Given the description of an element on the screen output the (x, y) to click on. 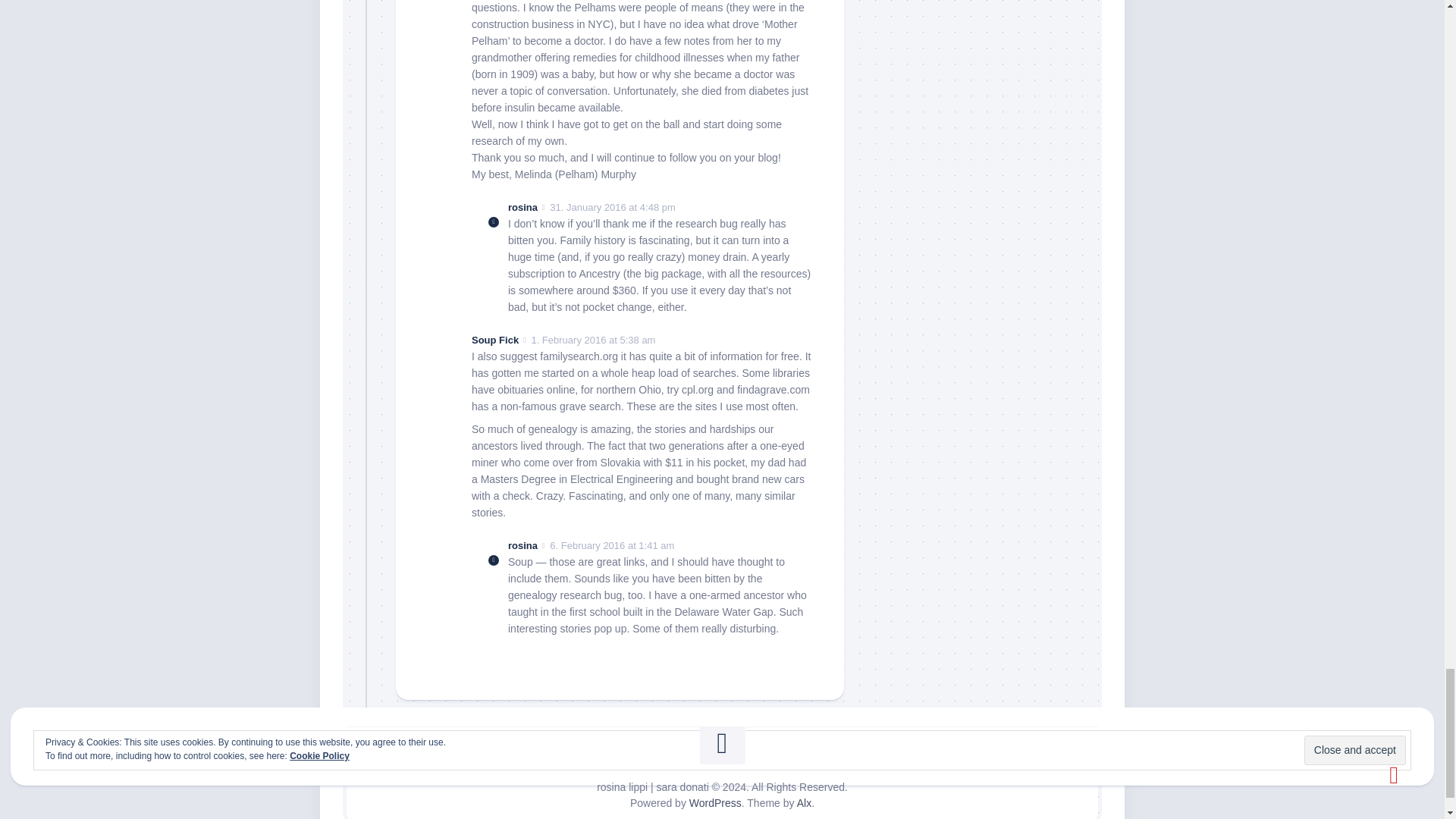
6. February 2016 at 1:41 am (612, 545)
1. February 2016 at 5:38 am (593, 339)
rosina (522, 545)
rosina (522, 206)
31. January 2016 at 4:48 pm (612, 206)
